Given the description of an element on the screen output the (x, y) to click on. 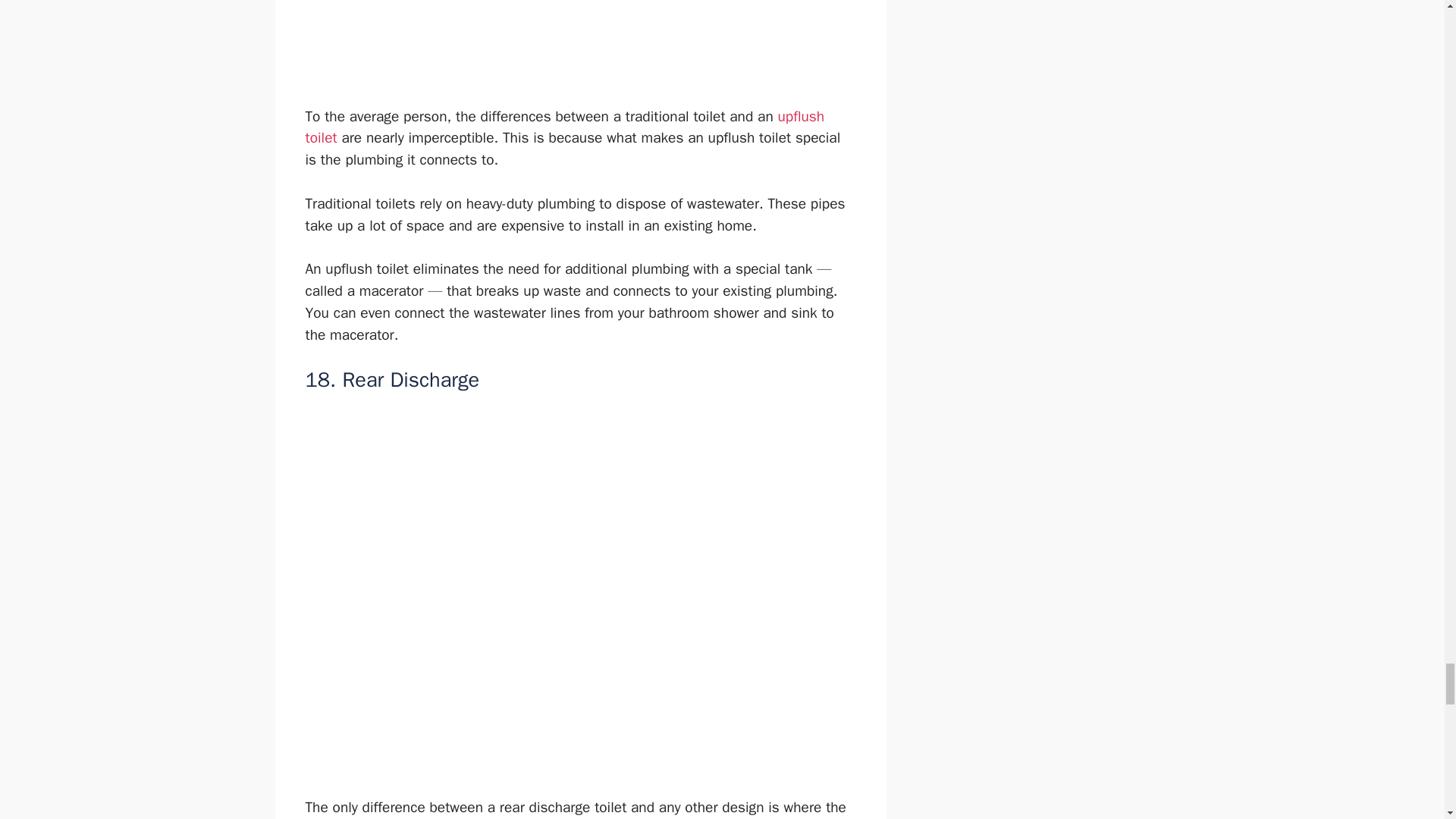
upflush toilet (564, 127)
